Given the description of an element on the screen output the (x, y) to click on. 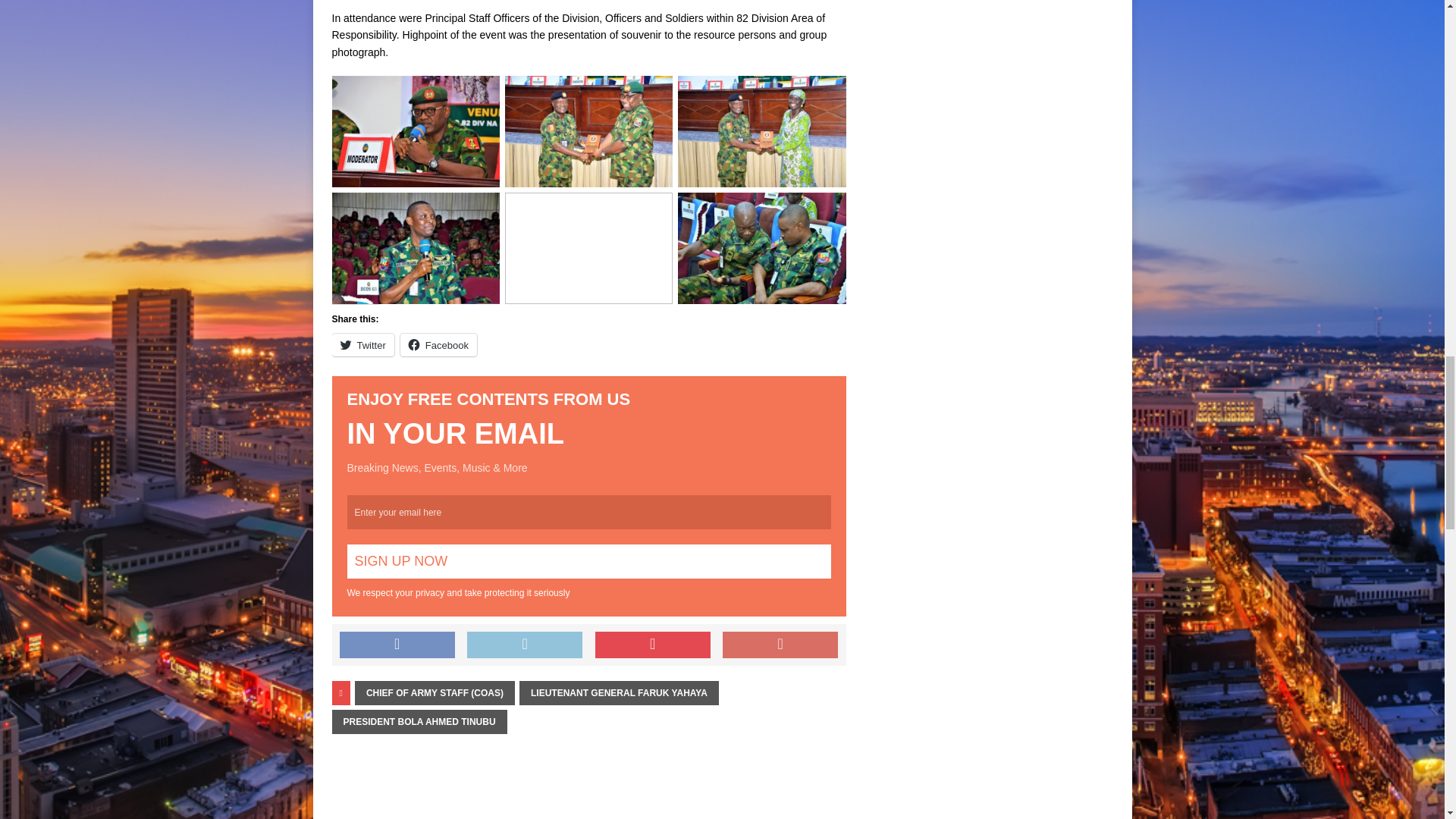
Share on Facebook (396, 645)
Click to share on Twitter (362, 344)
Click to share on Facebook (438, 344)
Advertisement (407, 2)
Sign Up Now (589, 561)
